Given the description of an element on the screen output the (x, y) to click on. 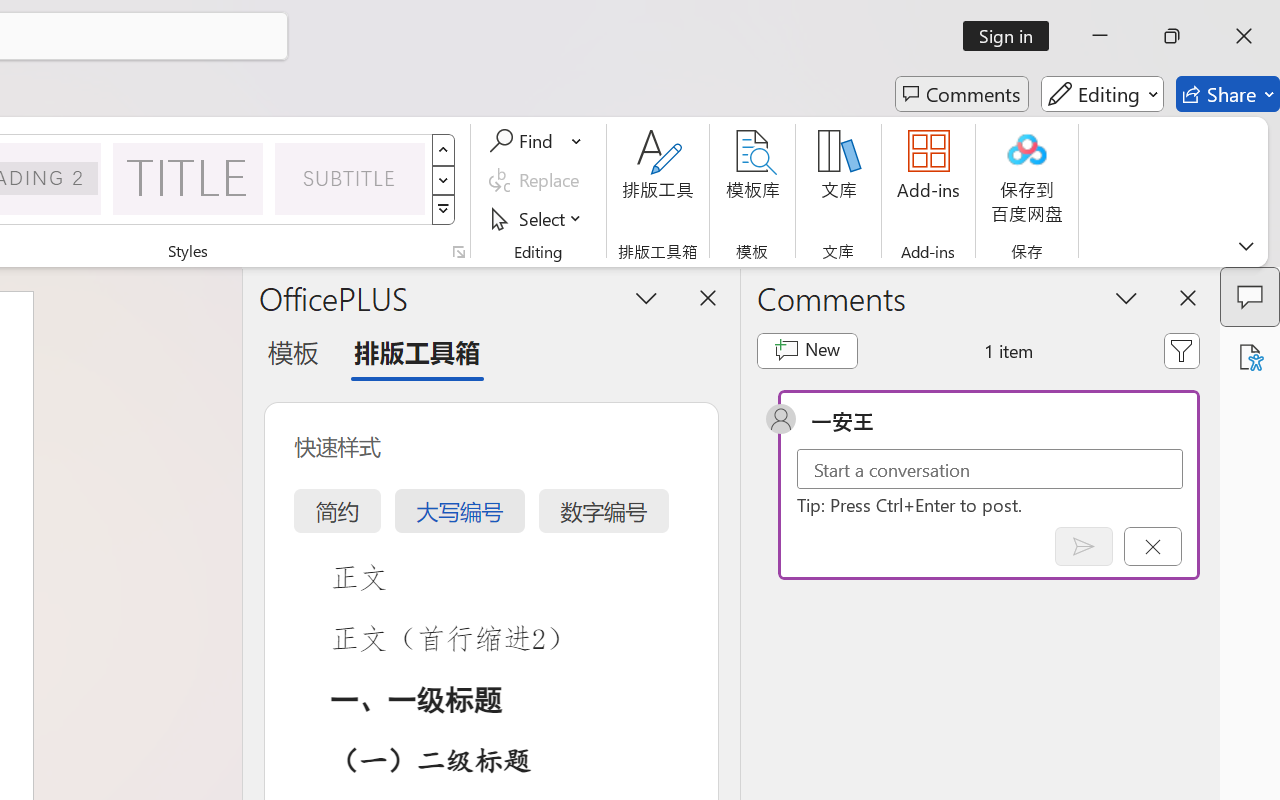
Filter (1181, 350)
Sign in (1012, 35)
Subtitle (349, 178)
